Given the description of an element on the screen output the (x, y) to click on. 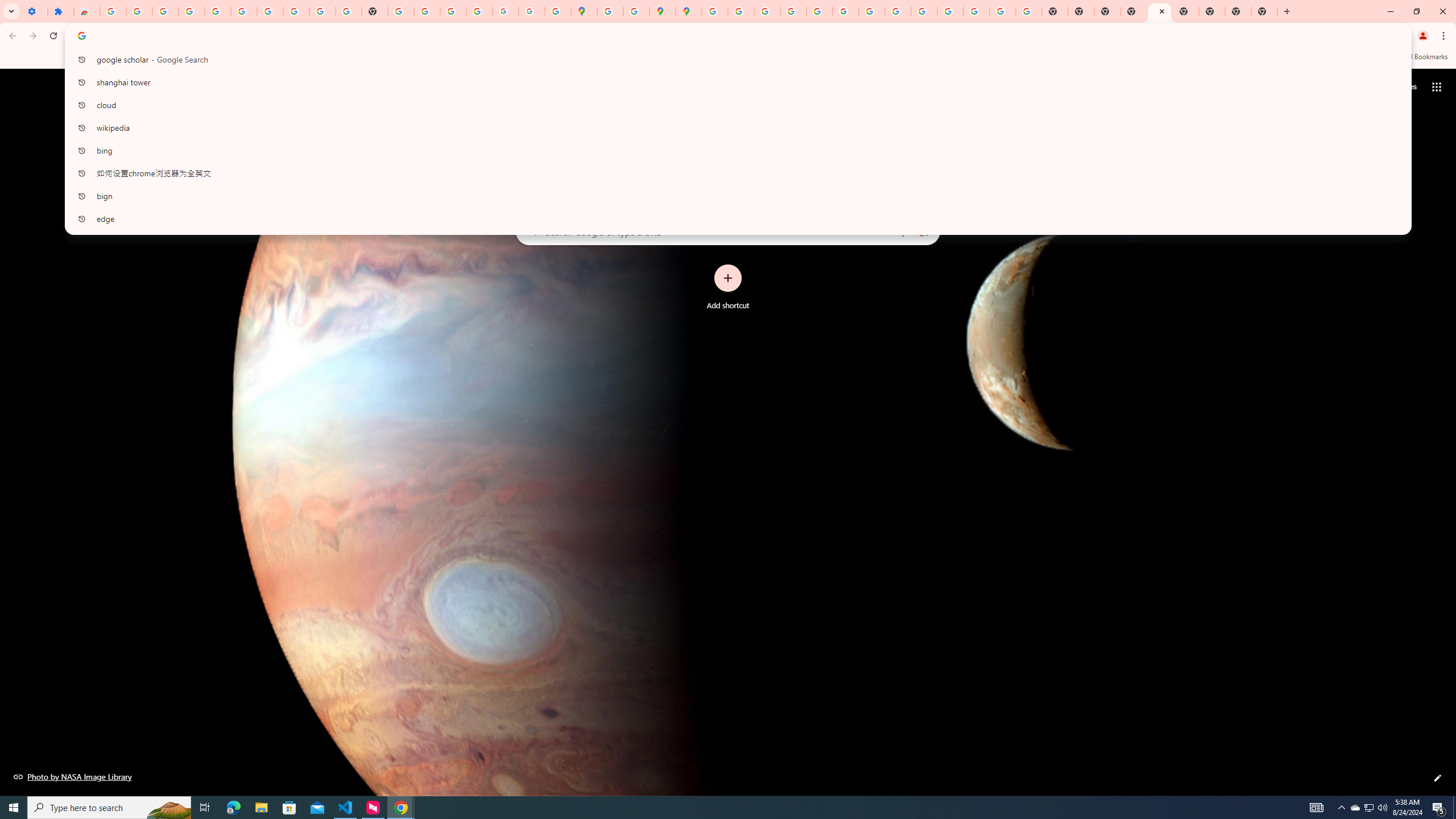
Google Images (1028, 11)
Safety in Our Products - Google Safety Center (636, 11)
bing search from history (733, 150)
Sign in - Google Accounts (112, 11)
Customize this page (1437, 778)
Photo by NASA Image Library (72, 776)
